Given the description of an element on the screen output the (x, y) to click on. 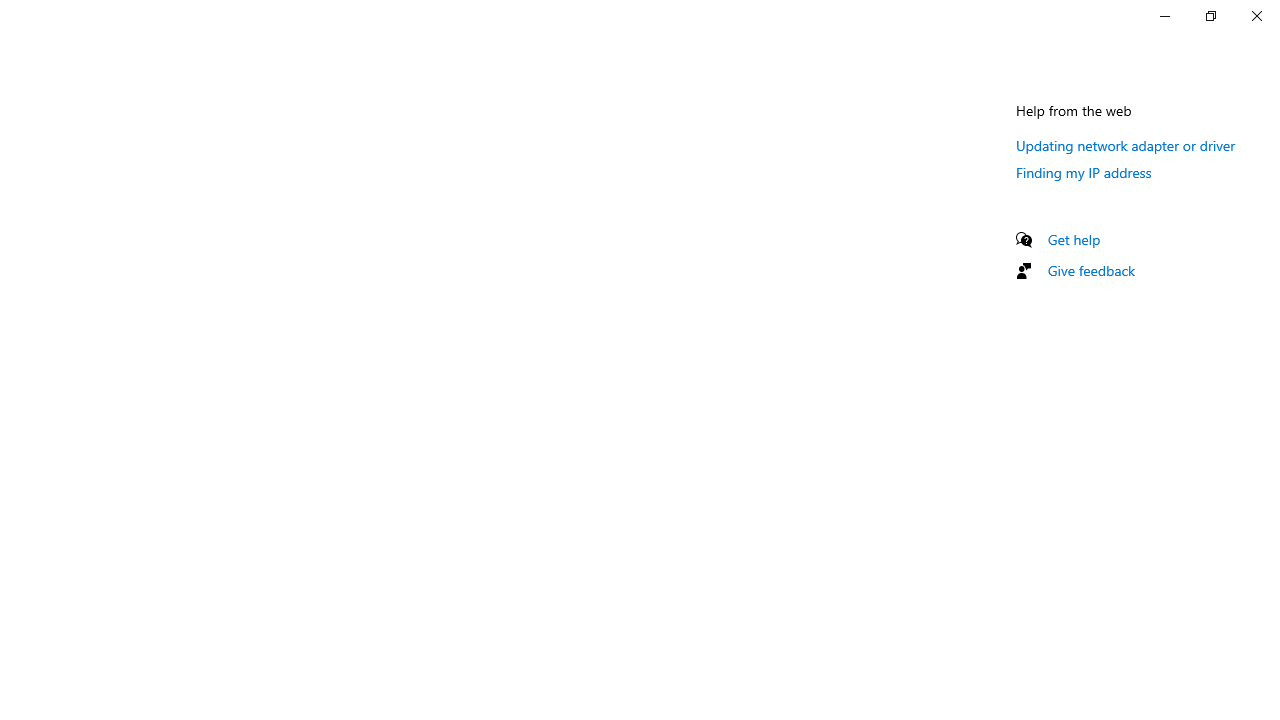
Give feedback (1091, 270)
Updating network adapter or driver (1126, 145)
Finding my IP address (1084, 172)
